Given the description of an element on the screen output the (x, y) to click on. 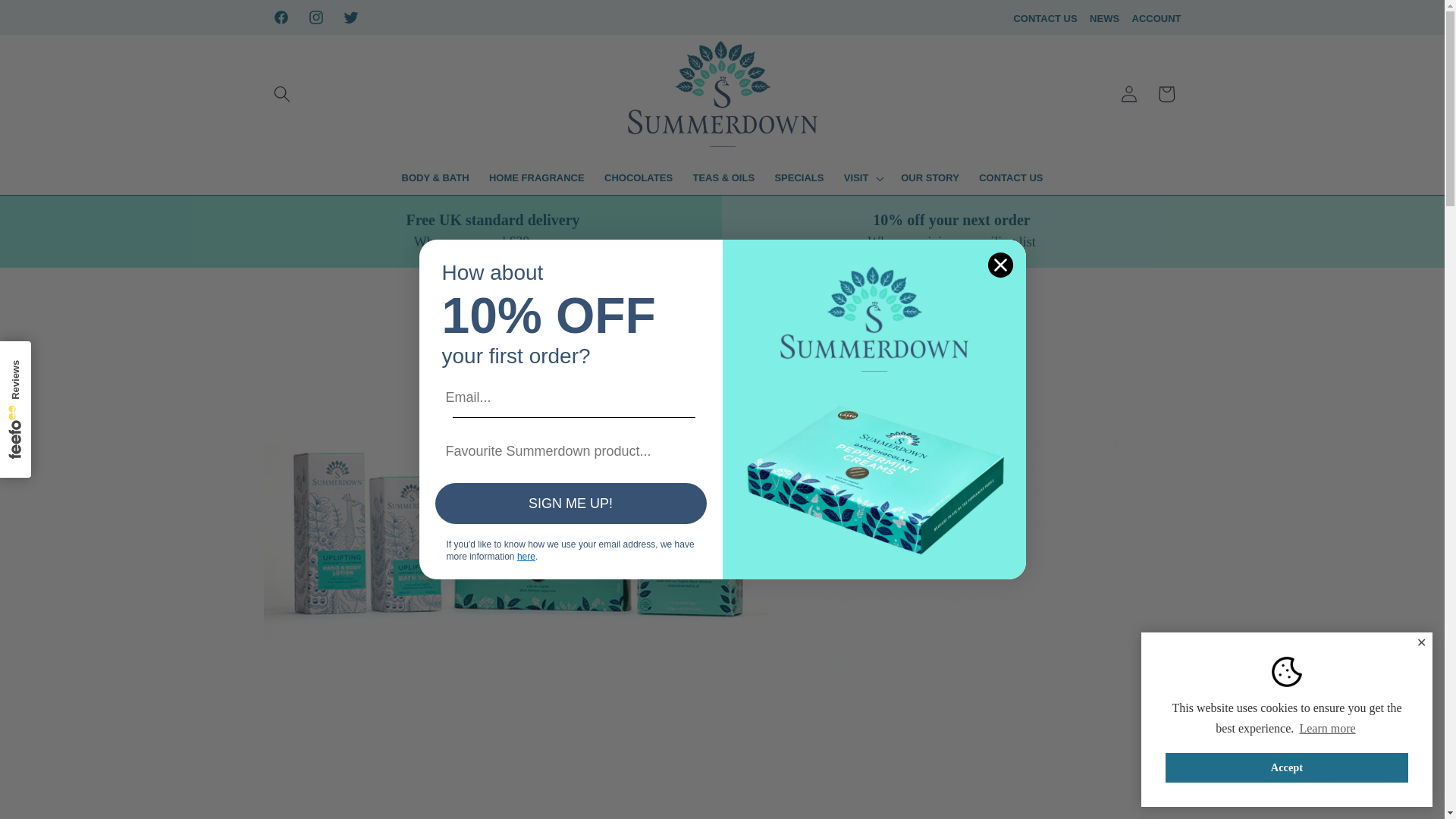
CHOCOLATES (638, 178)
NEWS (1104, 18)
Learn more (1327, 728)
Skip to content (49, 18)
ACCOUNT (1155, 18)
X (350, 17)
Close dialog 1 (1000, 264)
CONTACT US (1045, 18)
Instagram (315, 17)
Facebook (280, 17)
Accept (1286, 767)
HOME FRAGRANCE (536, 178)
SPECIALS (798, 178)
1 (863, 787)
